Given the description of an element on the screen output the (x, y) to click on. 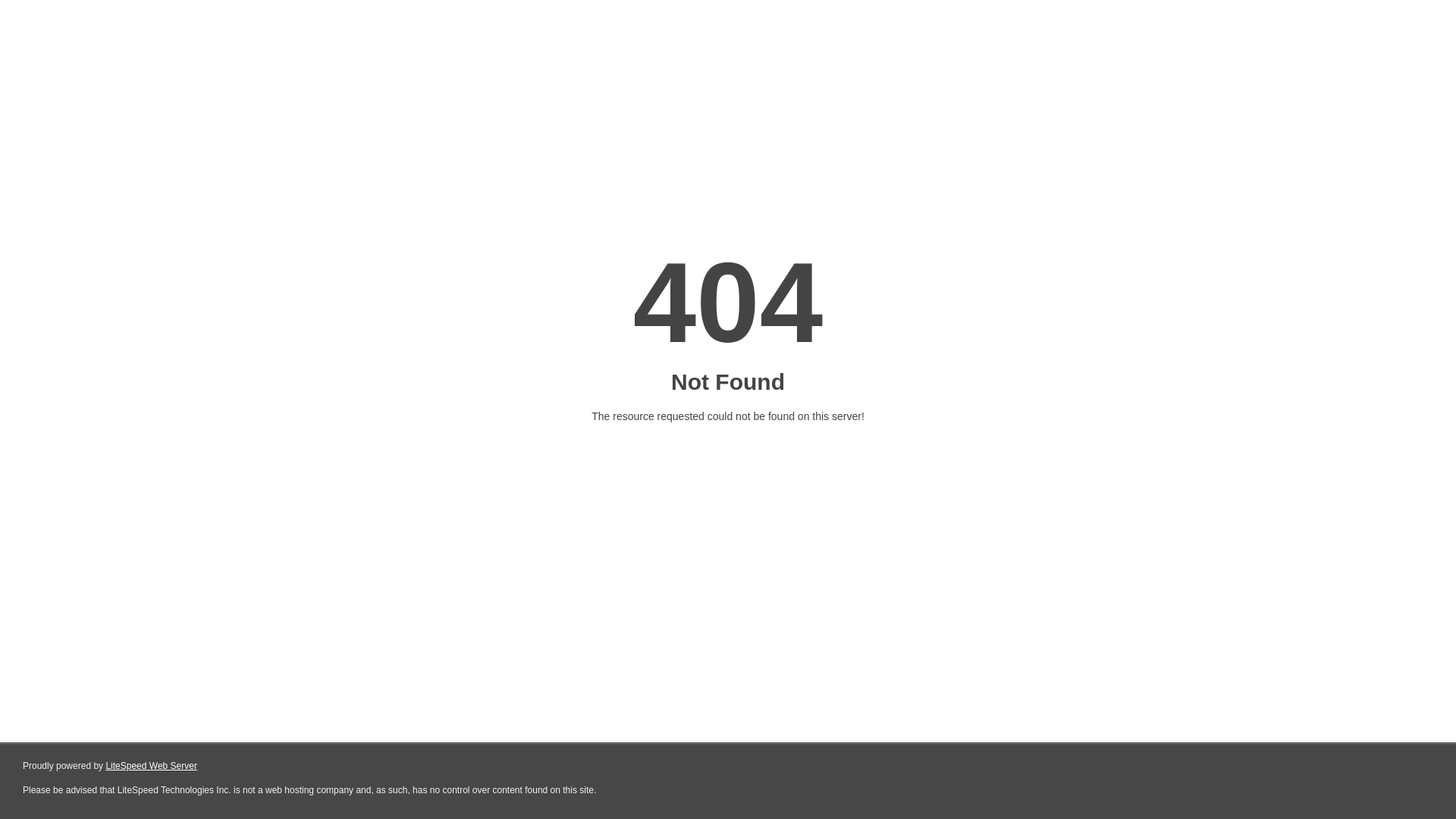
LiteSpeed Web Server Element type: text (151, 765)
